Given the description of an element on the screen output the (x, y) to click on. 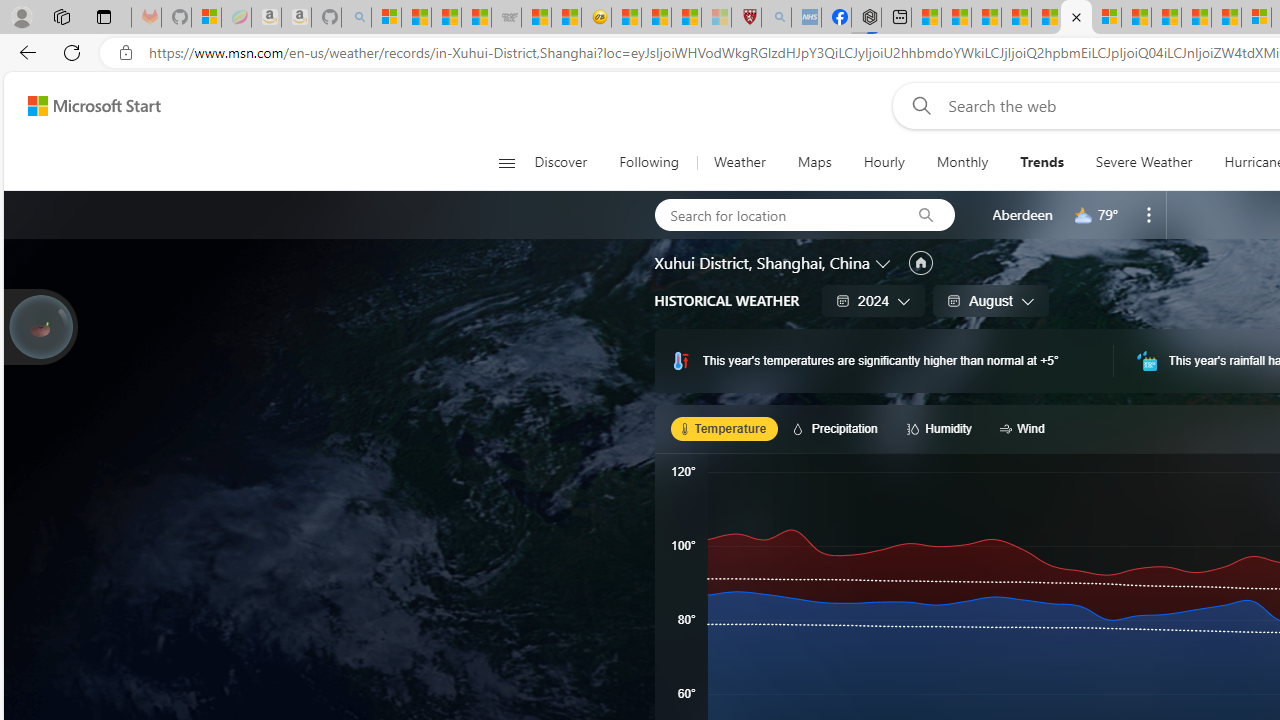
2024 (873, 300)
Remove location (1149, 214)
Change location (884, 262)
